Given the description of an element on the screen output the (x, y) to click on. 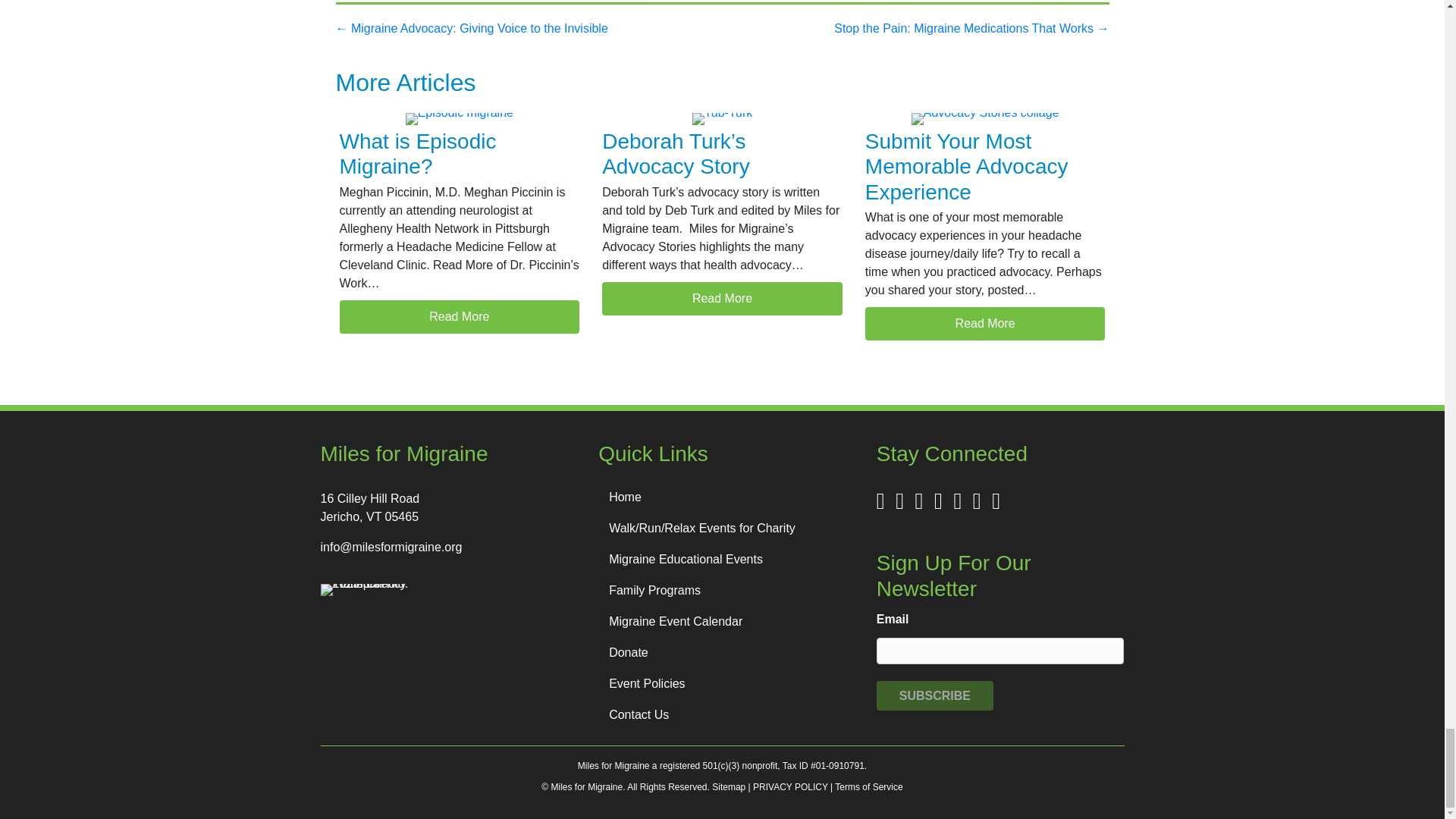
Episodic migraine (459, 119)
What is Episodic Migraine? (459, 316)
What is Episodic Migraine? (417, 154)
Subscribe (934, 695)
Tub-Turk-featured-image (722, 119)
